Given the description of an element on the screen output the (x, y) to click on. 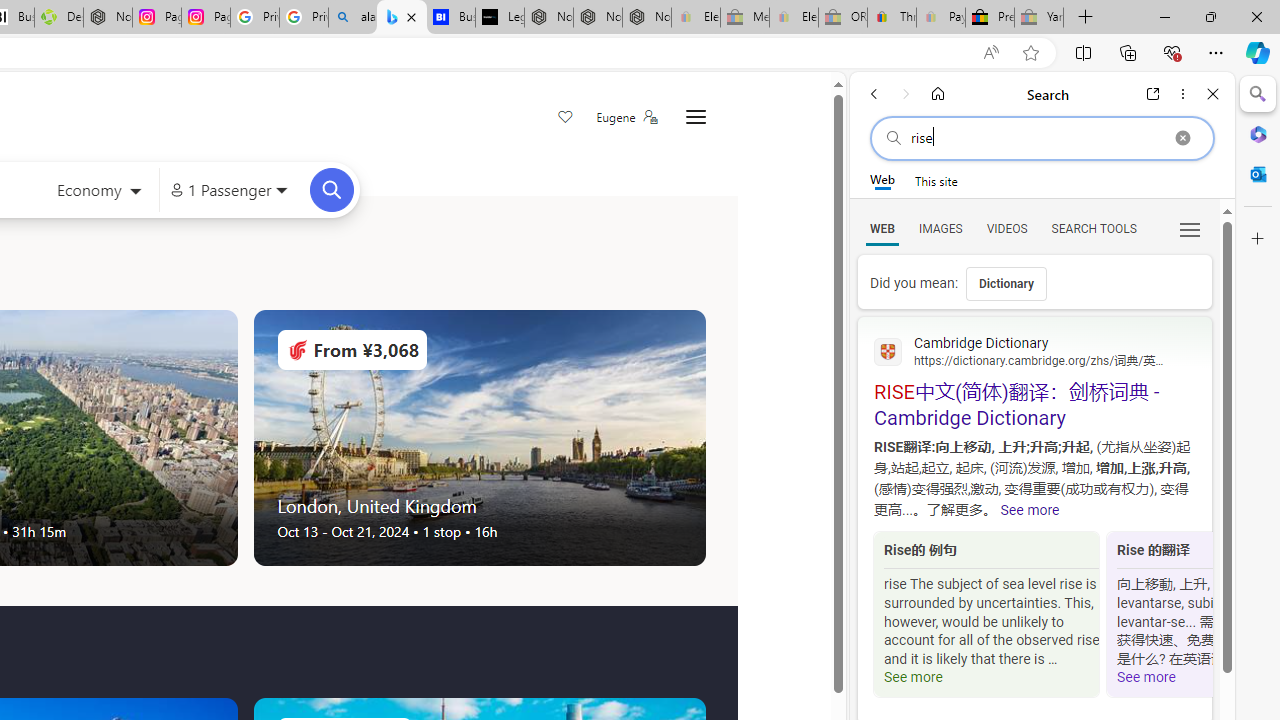
Airlines Logo (297, 349)
Clear (1182, 137)
alabama high school quarterback dies - Search (353, 17)
